Given the description of an element on the screen output the (x, y) to click on. 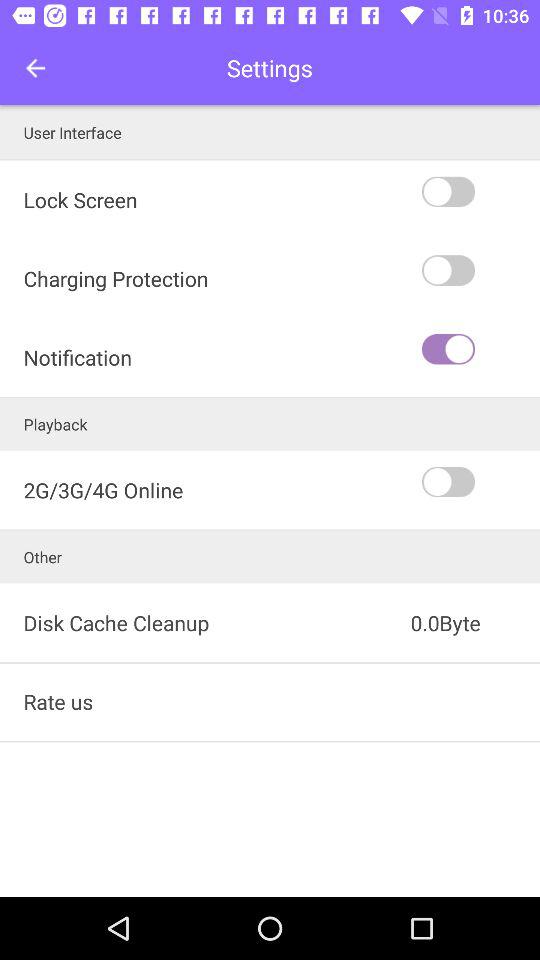
select icon to the left of settings (35, 68)
